Given the description of an element on the screen output the (x, y) to click on. 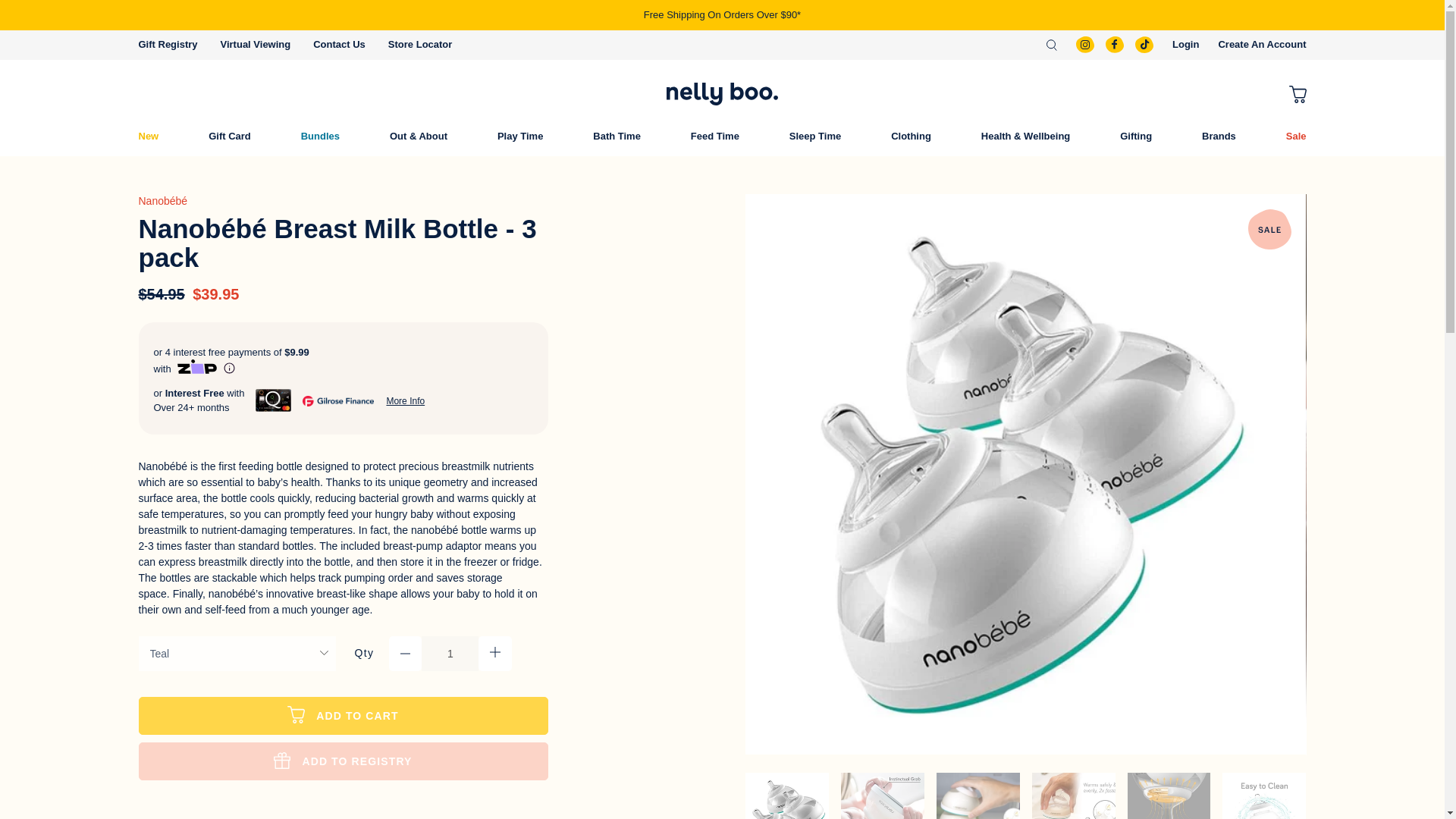
Gift Card (229, 136)
Login (1185, 44)
Virtual Viewing (256, 44)
Bundles (320, 136)
Store Locator (420, 44)
Contact Us (339, 44)
Gift Registry (167, 44)
1 (450, 653)
Create An Account (1261, 44)
